Given the description of an element on the screen output the (x, y) to click on. 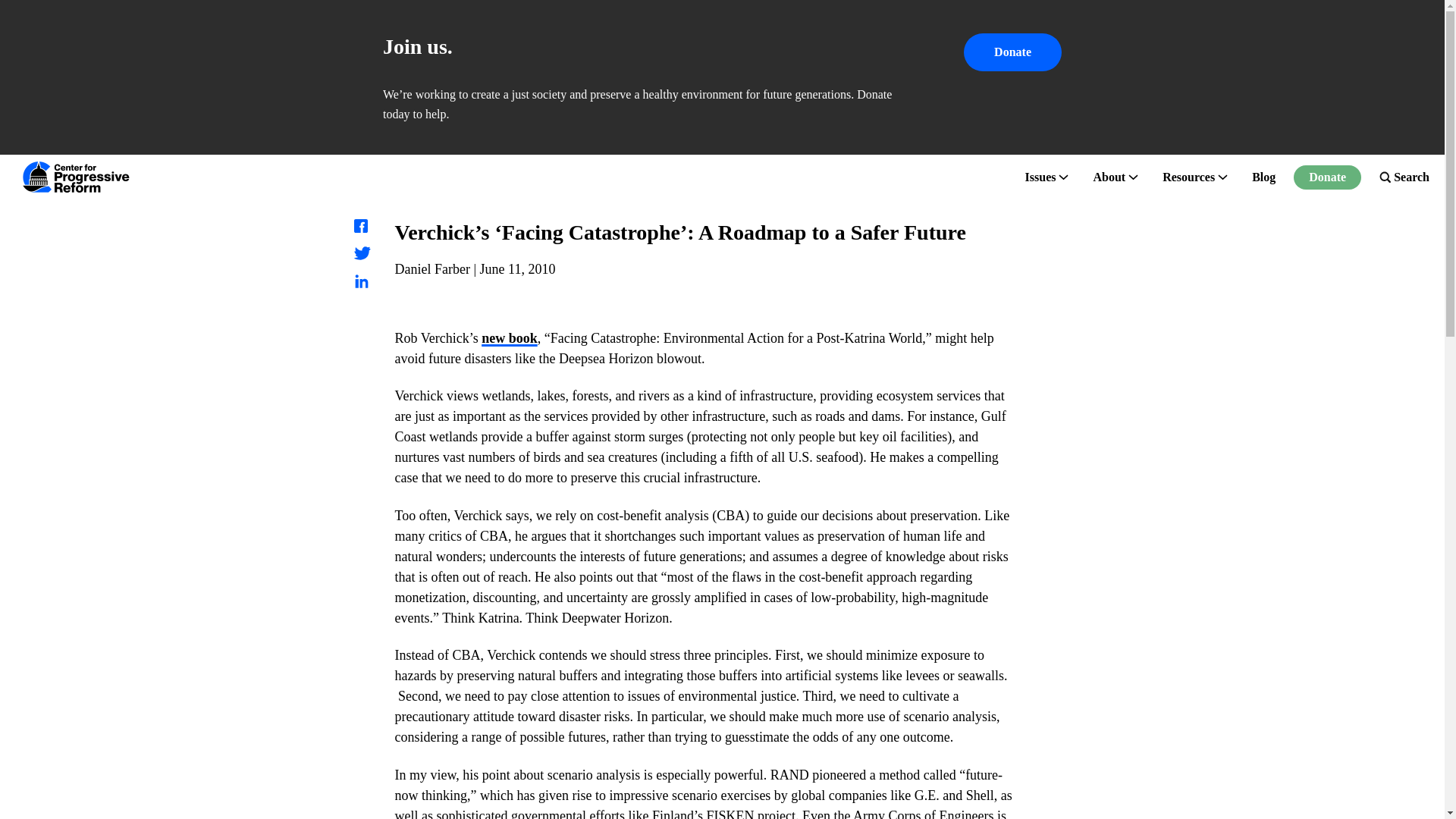
Resources (1187, 177)
Issues (1041, 177)
Blog (1263, 177)
Search (1403, 177)
Close (1417, 26)
About (1109, 177)
Donate (1327, 177)
Donate (1012, 52)
